Given the description of an element on the screen output the (x, y) to click on. 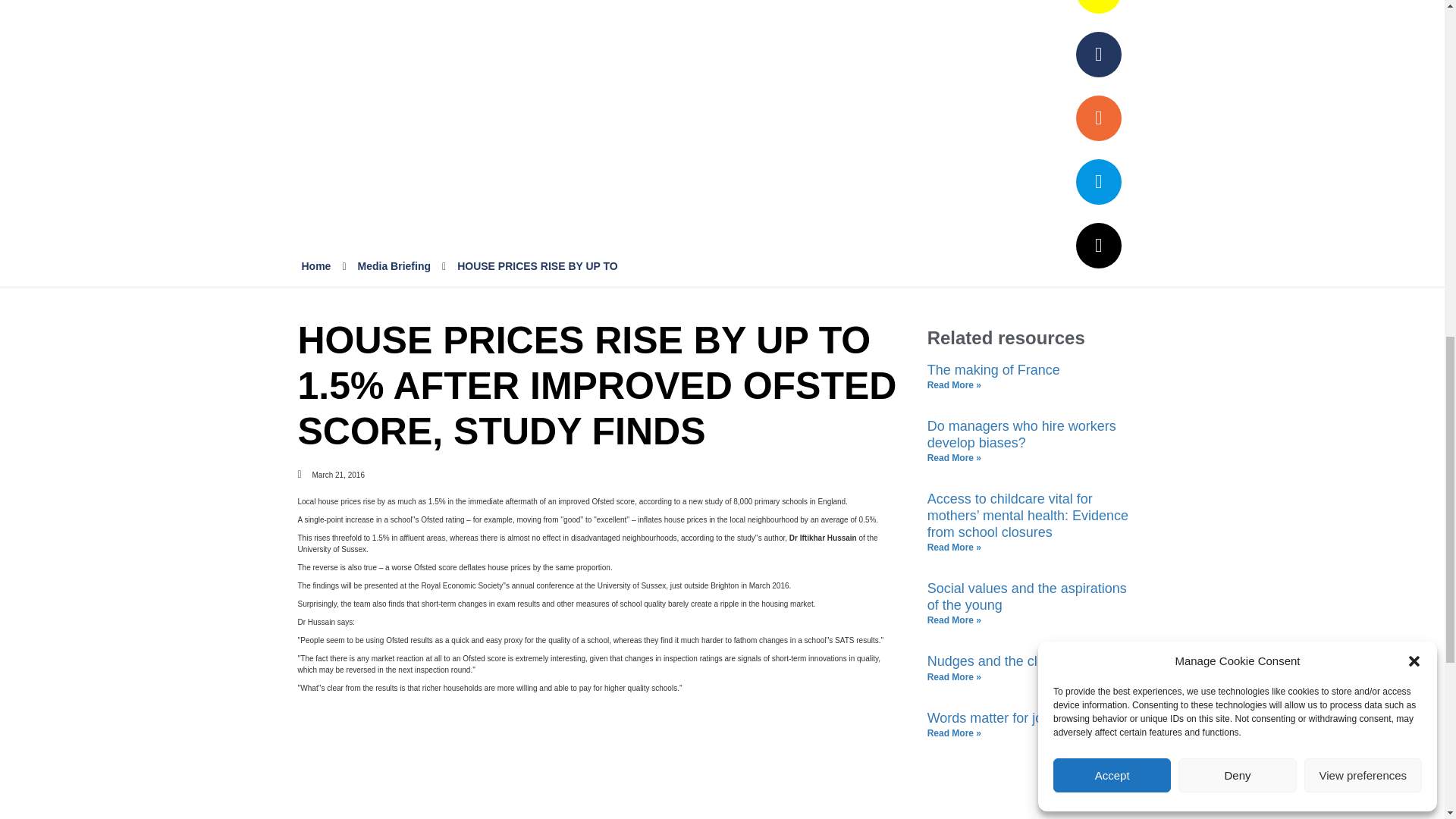
Media Briefing (394, 266)
Flickr (1098, 117)
Home (316, 266)
Skype (1098, 181)
Pinterest (1098, 6)
Snapchat (1098, 53)
